Given the description of an element on the screen output the (x, y) to click on. 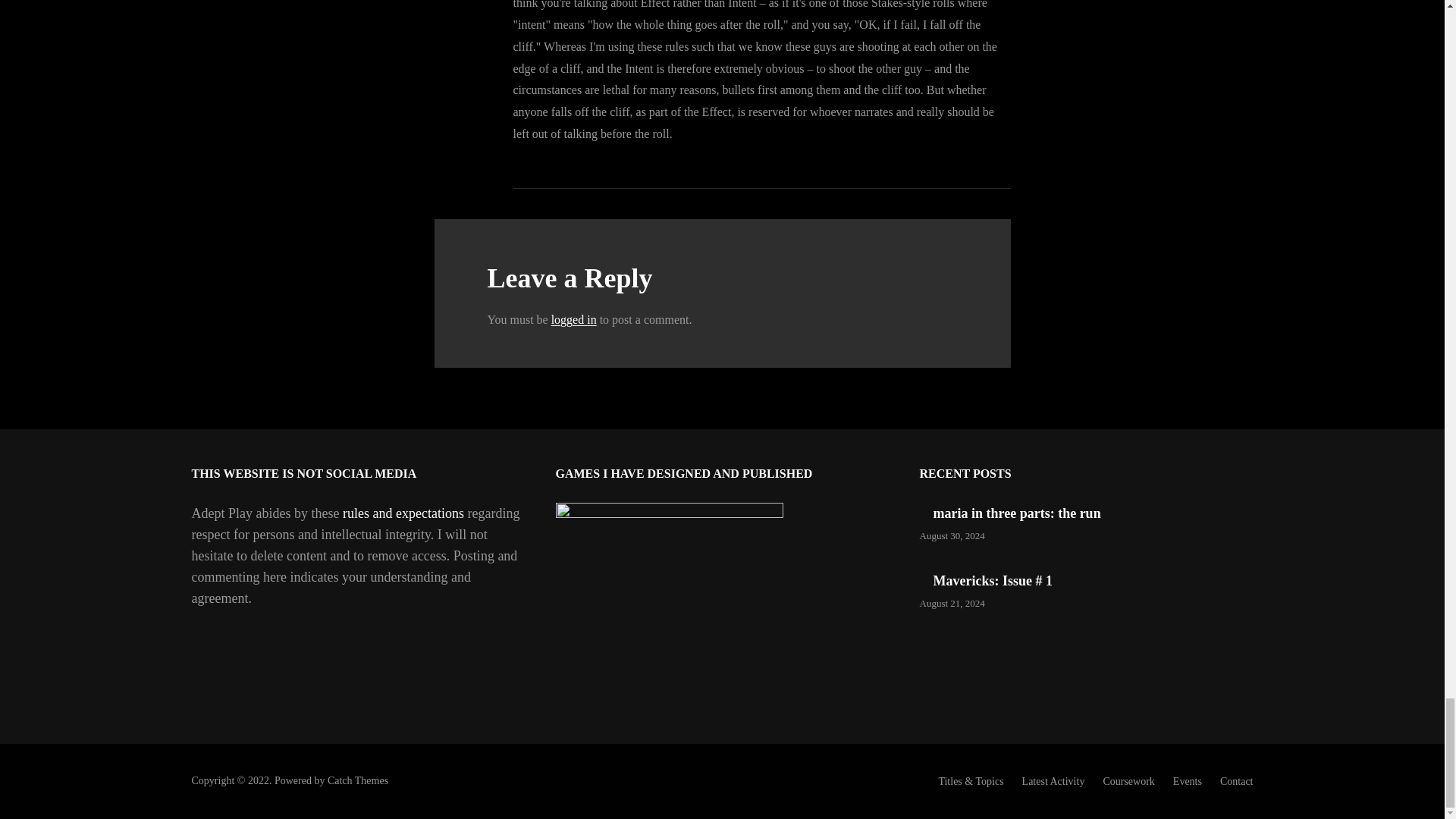
Coursework (1128, 780)
Latest Activity (1053, 780)
rules and expectations (403, 513)
logged in (573, 318)
maria in three parts: the run (1016, 513)
Catch Themes (357, 780)
Contact (1236, 780)
